Given the description of an element on the screen output the (x, y) to click on. 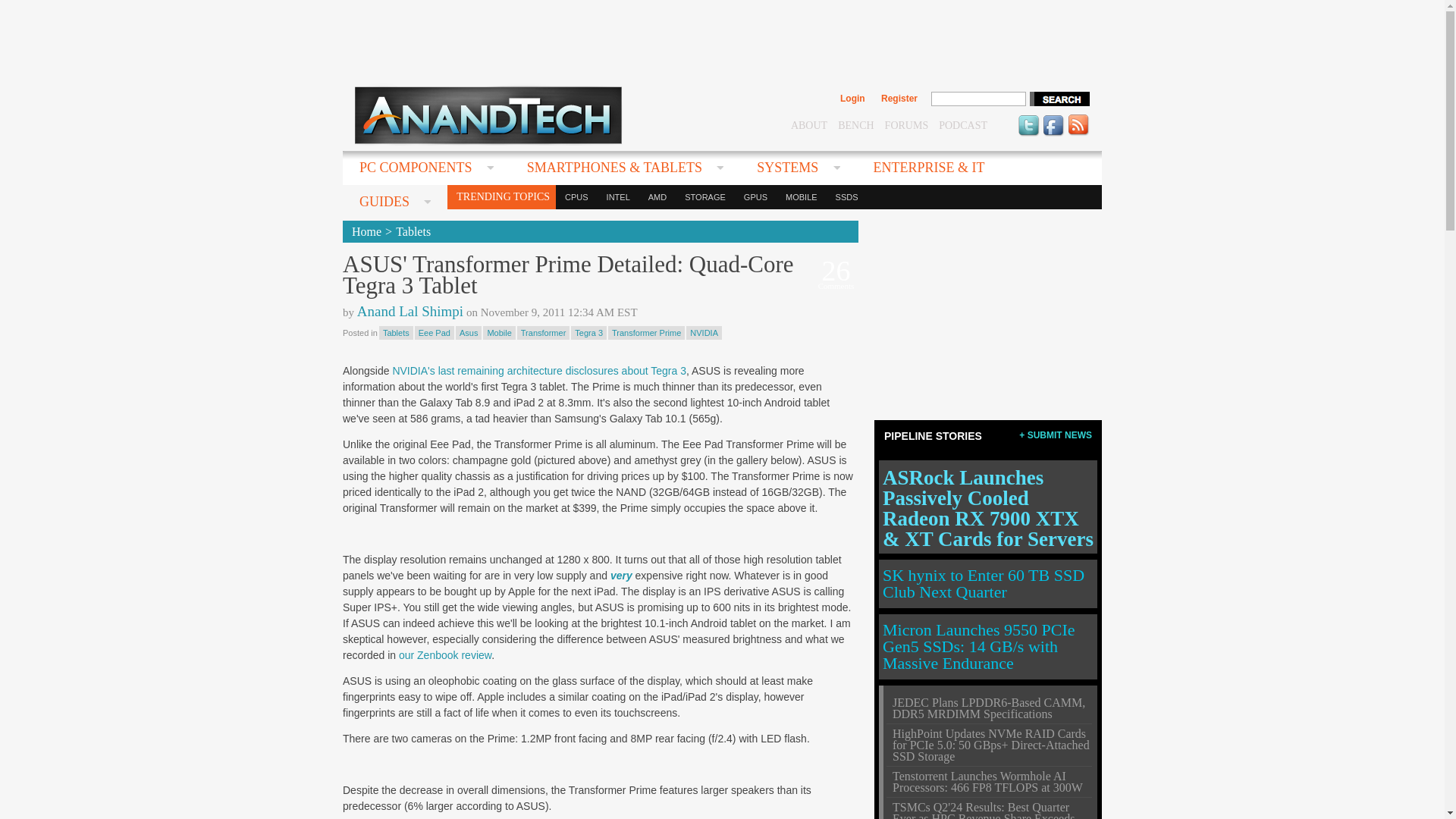
Login (852, 98)
FORUMS (906, 125)
search (1059, 98)
Register (898, 98)
ABOUT (808, 125)
search (1059, 98)
search (1059, 98)
PODCAST (963, 125)
BENCH (855, 125)
